Given the description of an element on the screen output the (x, y) to click on. 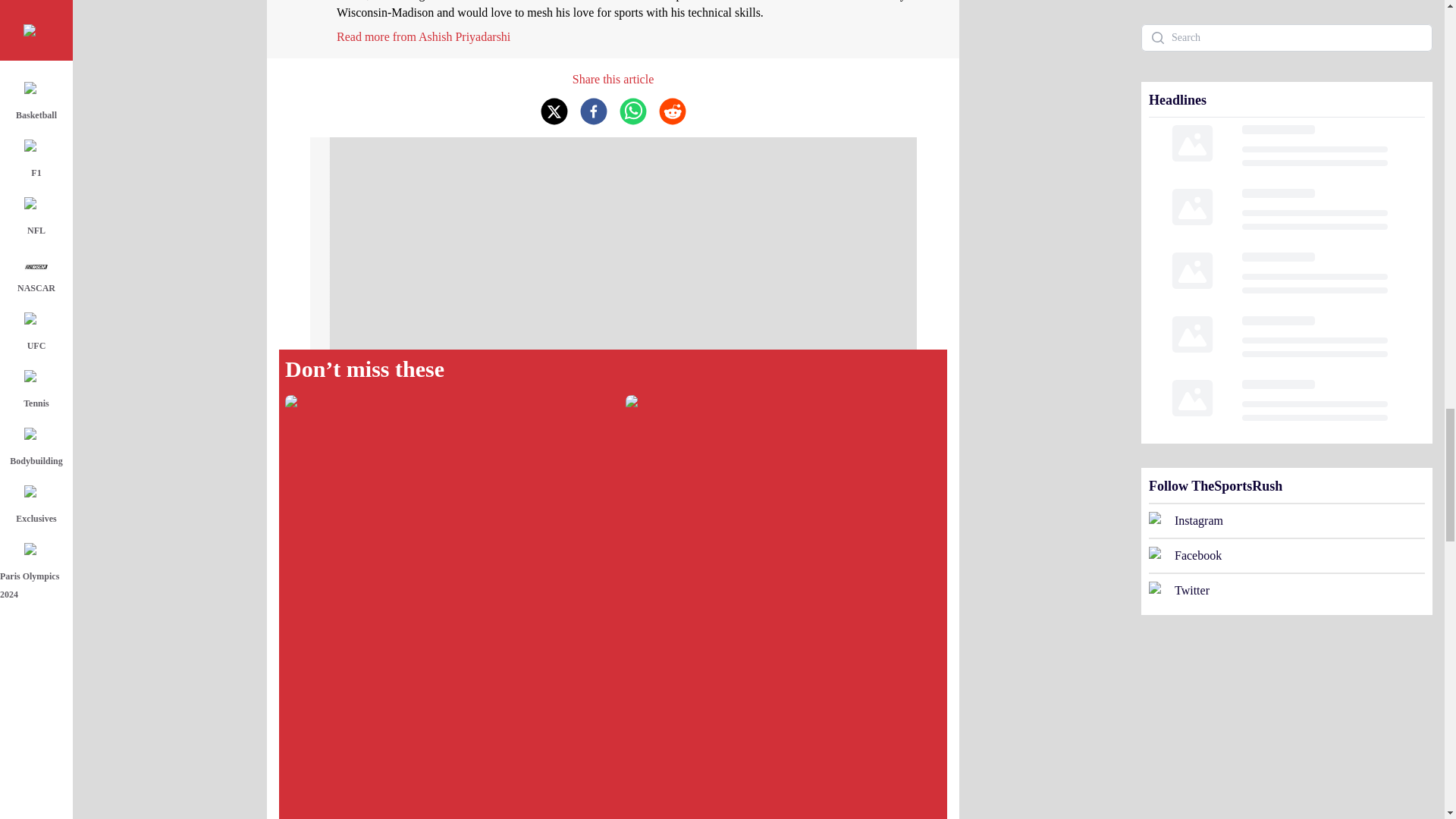
Read more from Ashish Priyadarshi (423, 36)
